Given the description of an element on the screen output the (x, y) to click on. 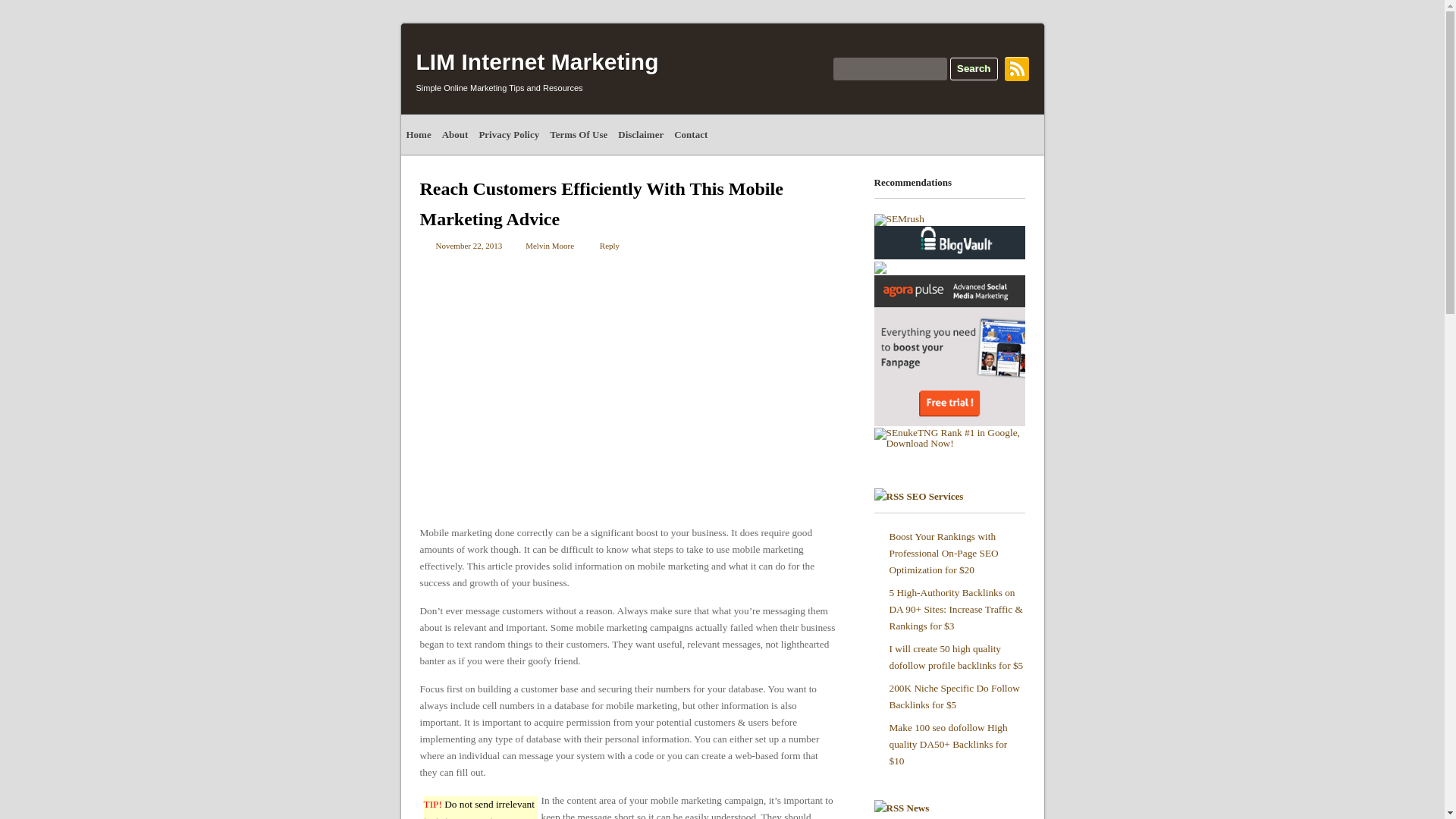
SEMrush (898, 218)
LIM Internet Marketing (536, 61)
Melvin Moore (549, 245)
Disclaimer (640, 134)
Contact (690, 134)
About (455, 134)
Terms Of Use (578, 134)
Privacy Policy (508, 134)
Blogvault (949, 242)
SEO Services (935, 496)
